Given the description of an element on the screen output the (x, y) to click on. 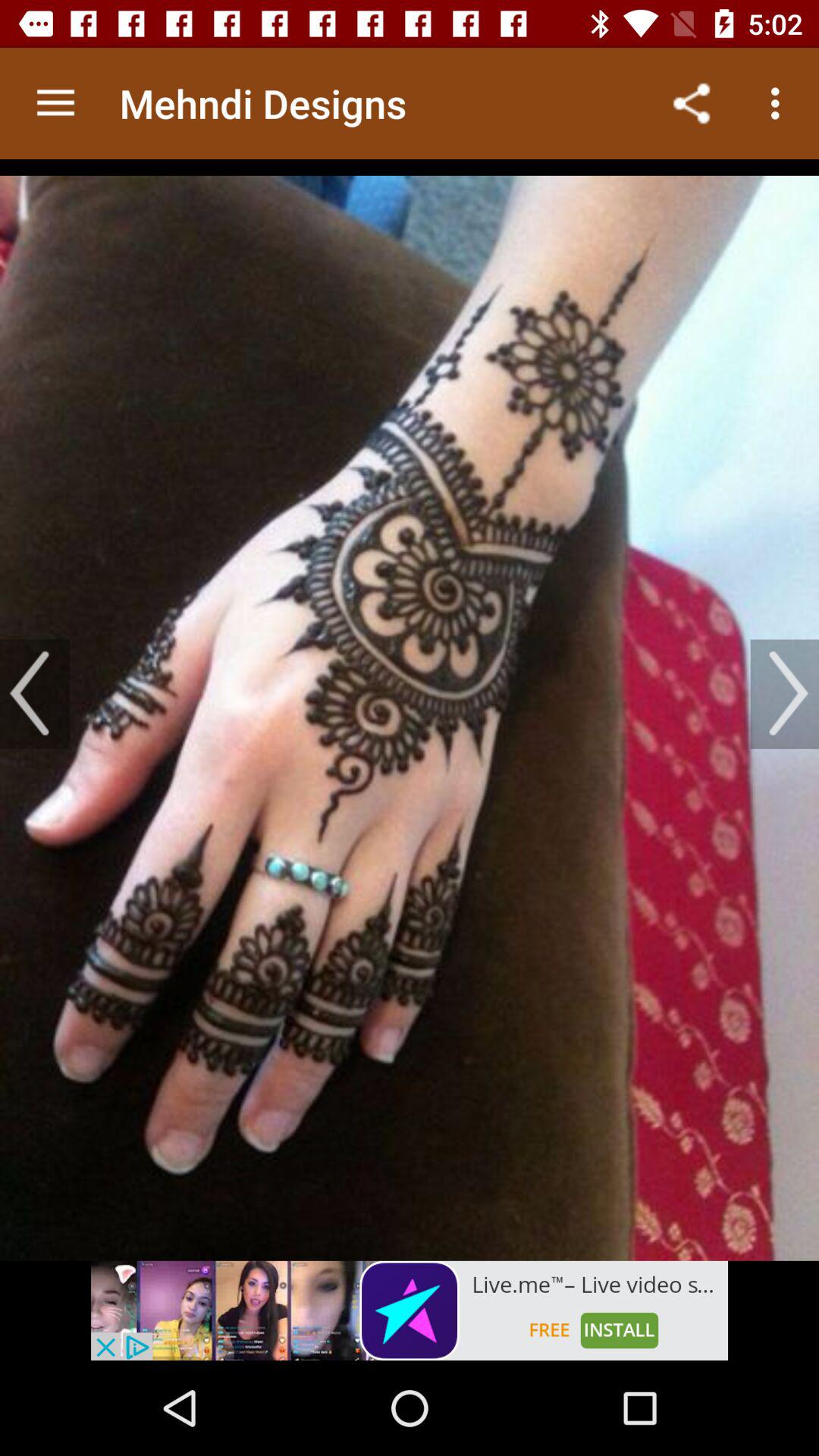
product 's image (409, 709)
